Given the description of an element on the screen output the (x, y) to click on. 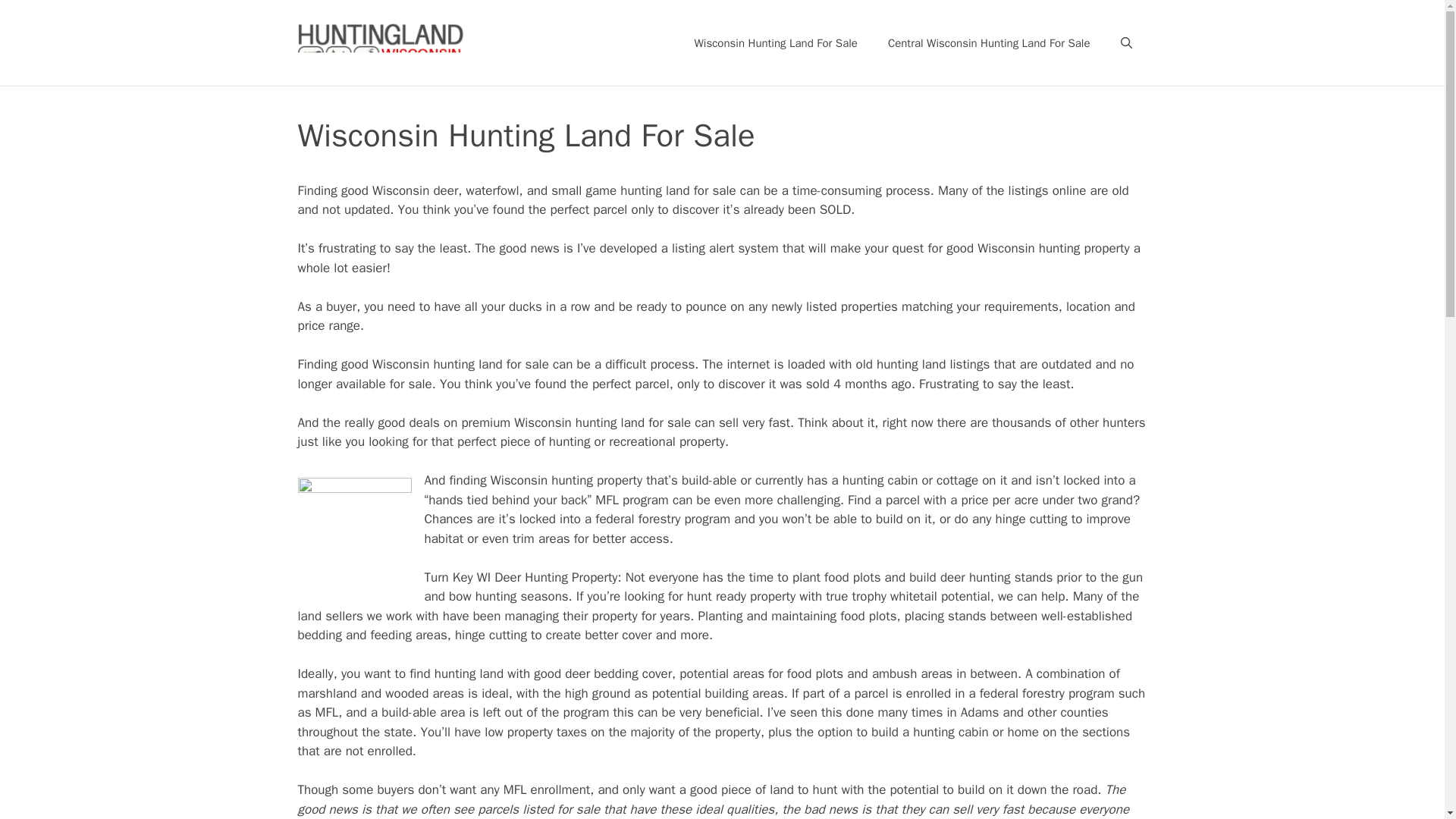
Wisconsin Hunting Land For Sale (775, 43)
land to hunt (803, 789)
hunting cabin or cottage (910, 480)
Adams (979, 712)
Central Wisconsin Hunting Land For Sale (988, 43)
